Given the description of an element on the screen output the (x, y) to click on. 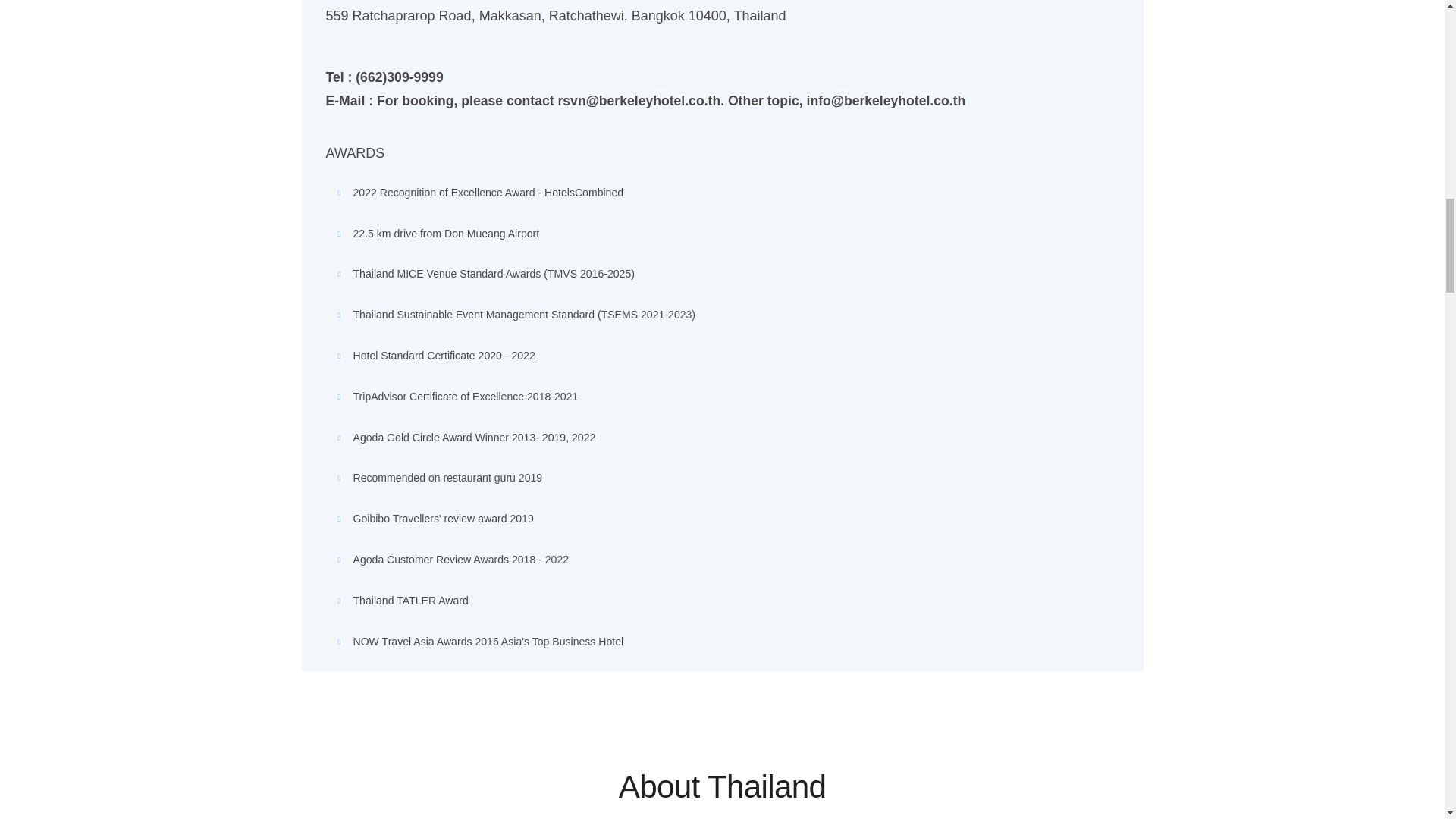
2022 Recognition of Excellence Award - HotelsCombined (488, 192)
Recommended on restaurant guru 2019 (448, 477)
TripAdvisor Certificate of Excellence 2018-2021 (465, 396)
Goibibo Travellers' review award 2019 (443, 518)
NOW Travel Asia Awards 2016 Asia's Top Business Hotel (488, 641)
Agoda Customer Review Awards 2018 - 2022 (461, 559)
